Given the description of an element on the screen output the (x, y) to click on. 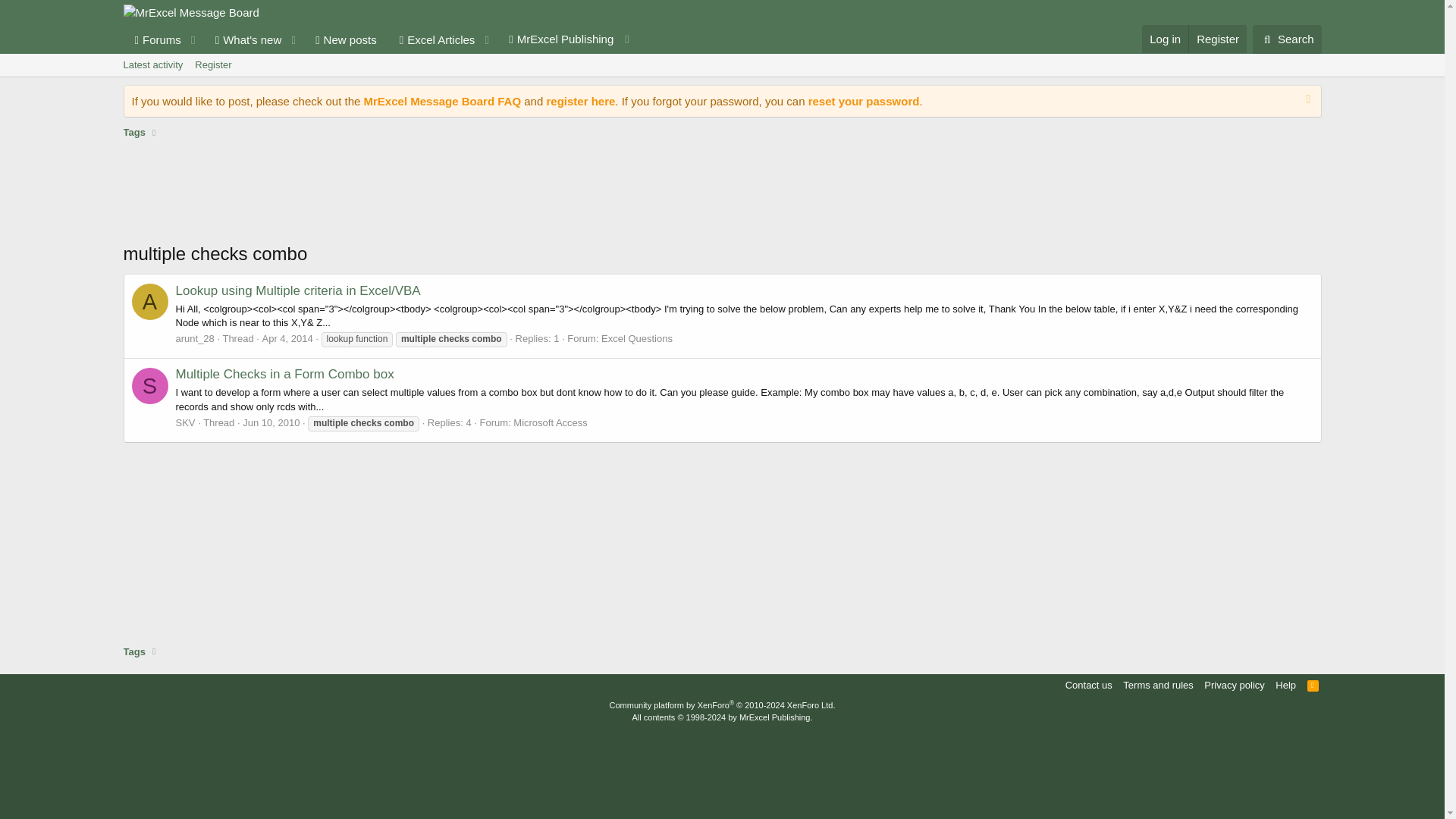
Log in (1164, 39)
Search (1287, 39)
reset your password (864, 101)
Search (1287, 39)
Excel Articles (432, 39)
Register (721, 65)
MrExcel Message Board FAQ (213, 65)
Forums (442, 101)
Tags (152, 39)
